Given the description of an element on the screen output the (x, y) to click on. 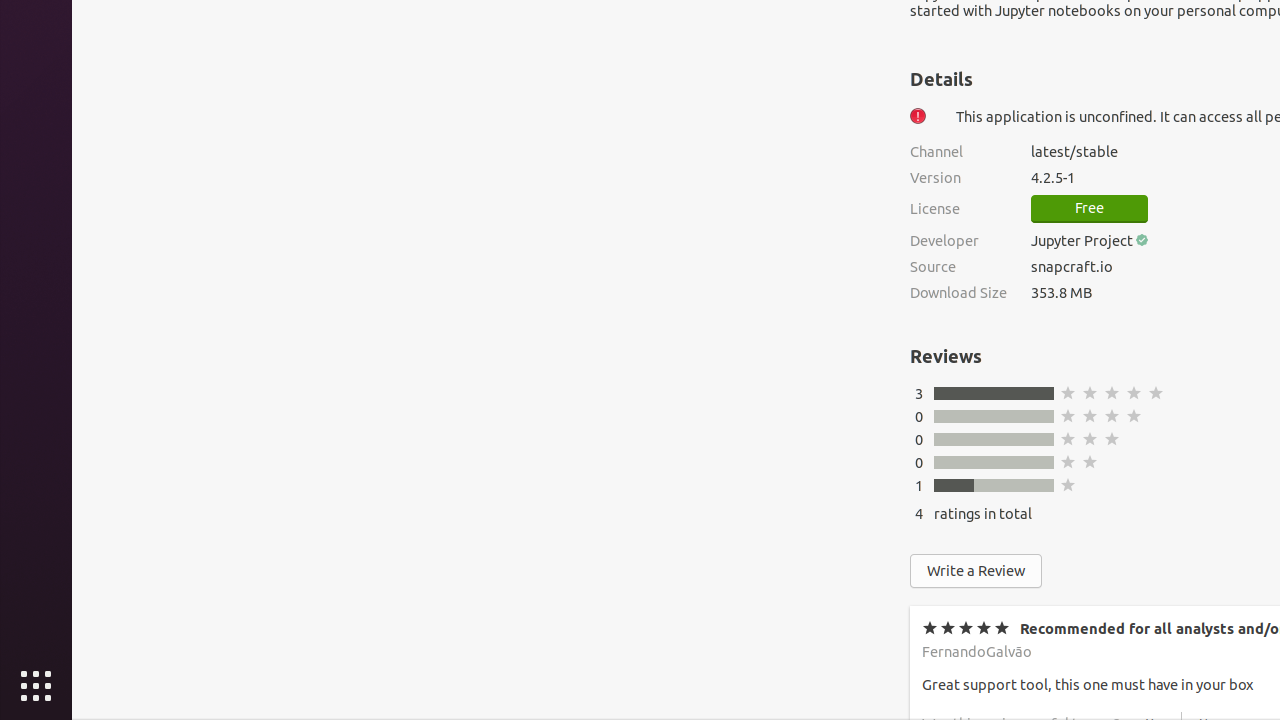
1 Element type: label (919, 485)
Write a Review Element type: push-button (976, 571)
Jupyter Project Element type: label (1082, 240)
Details Element type: label (941, 79)
License Element type: label (958, 209)
